Given the description of an element on the screen output the (x, y) to click on. 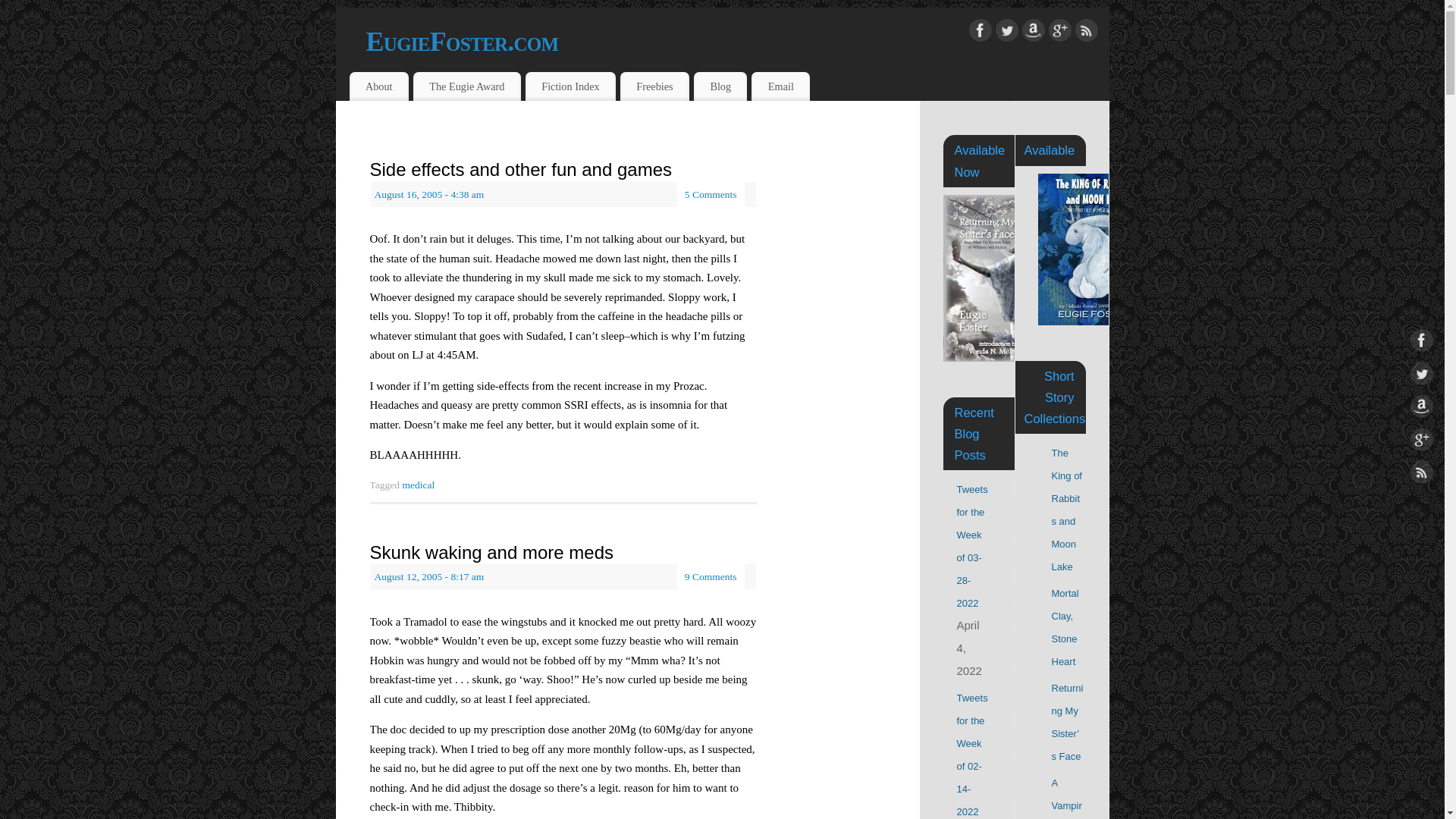
The Eugie Award (467, 86)
Side effects and other fun and games (520, 168)
August 12, 2005 - 8:17 am (429, 576)
About (378, 86)
EugieFoster.com (736, 41)
Skunk waking and more meds (491, 552)
August 16, 2005 - 4:38 am (429, 194)
Blog (720, 86)
EugieFoster.com (736, 41)
Freebies (654, 86)
